Given the description of an element on the screen output the (x, y) to click on. 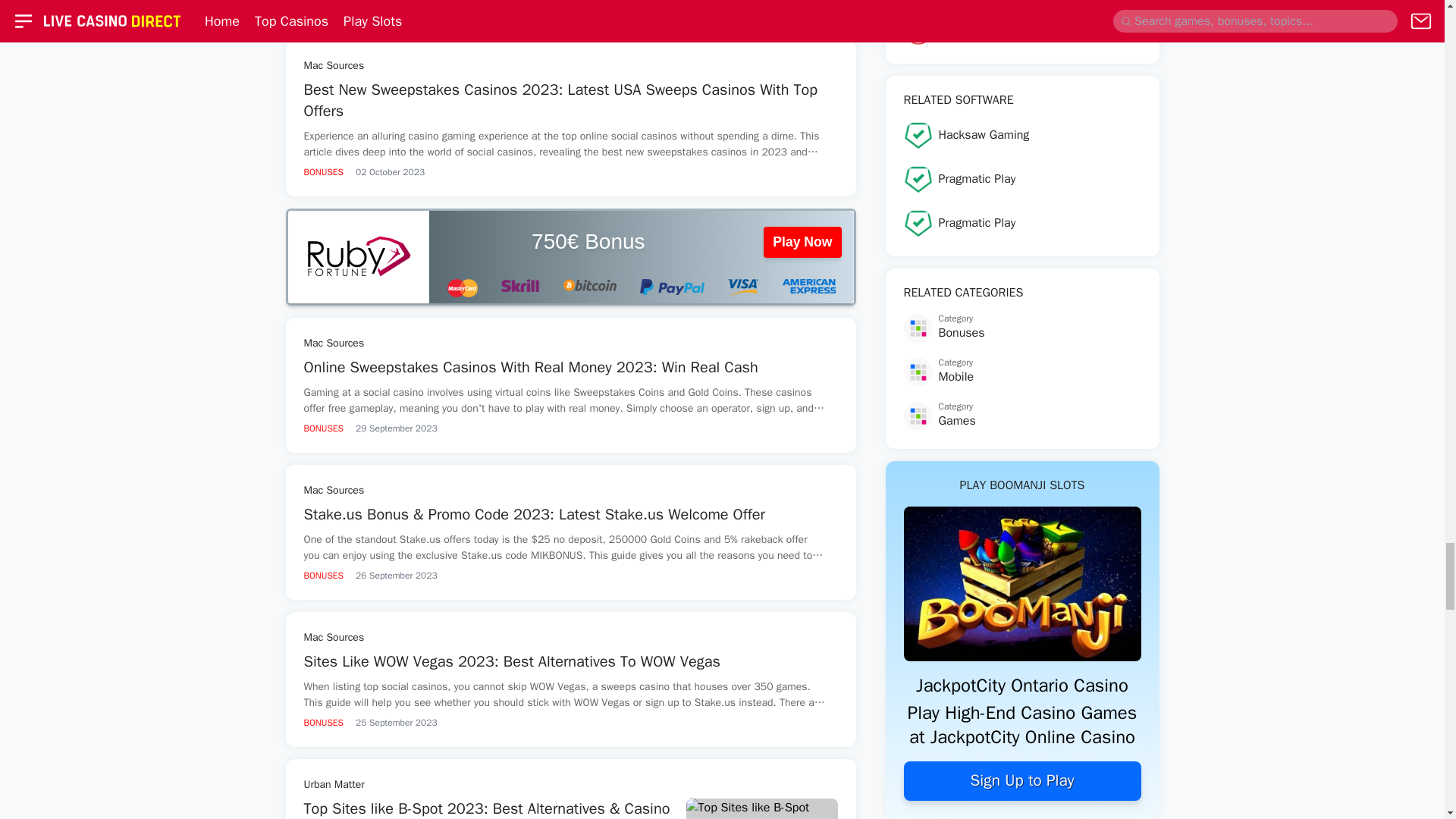
Ruby Fortune (358, 256)
